Given the description of an element on the screen output the (x, y) to click on. 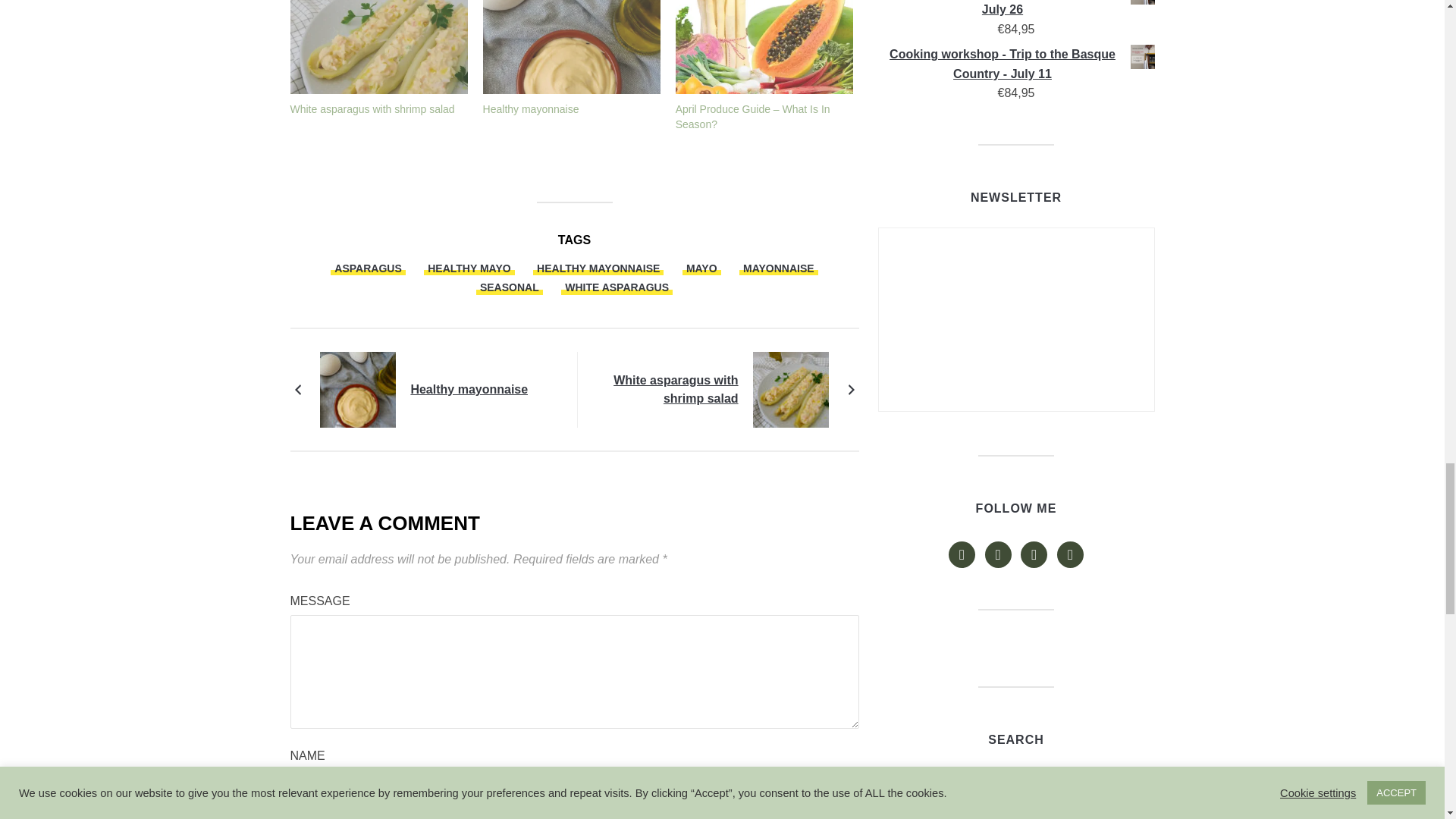
Search (1103, 783)
Healthy mayonnaise (572, 47)
Search (1103, 783)
Healthy mayonnaise (531, 109)
White asparagus with shrimp salad (378, 47)
White asparagus with shrimp salad (371, 109)
